Given the description of an element on the screen output the (x, y) to click on. 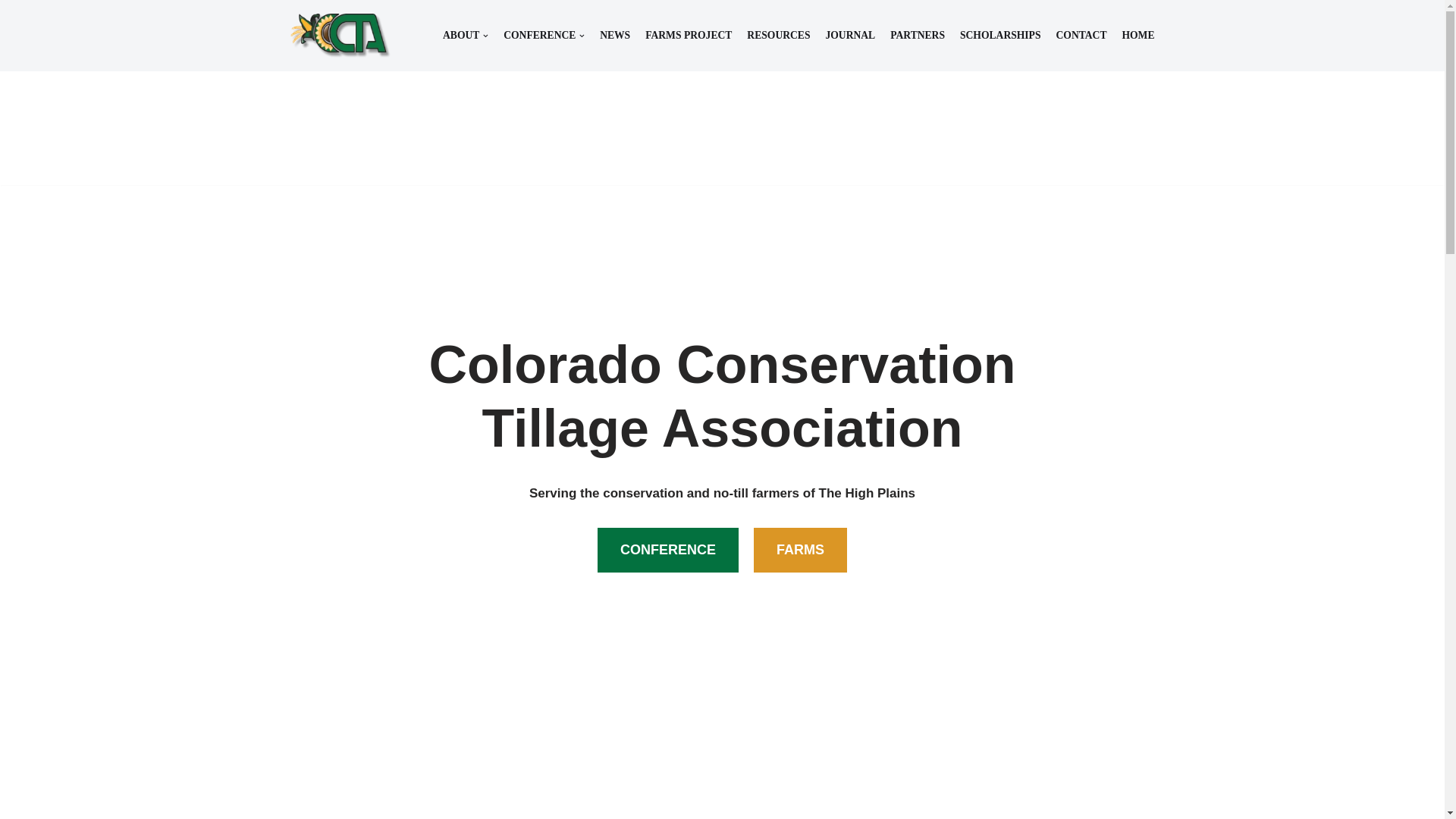
FARMS PROJECT (688, 35)
RESOURCES (777, 35)
CONTACT (1080, 35)
JOURNAL (850, 35)
NEWS (614, 35)
Colorado Conservation Tillage Association (339, 35)
PARTNERS (916, 35)
Skip to content (11, 31)
SCHOLARSHIPS (1000, 35)
ABOUT (464, 35)
CONFERENCE (544, 35)
HOME (1137, 35)
